Given the description of an element on the screen output the (x, y) to click on. 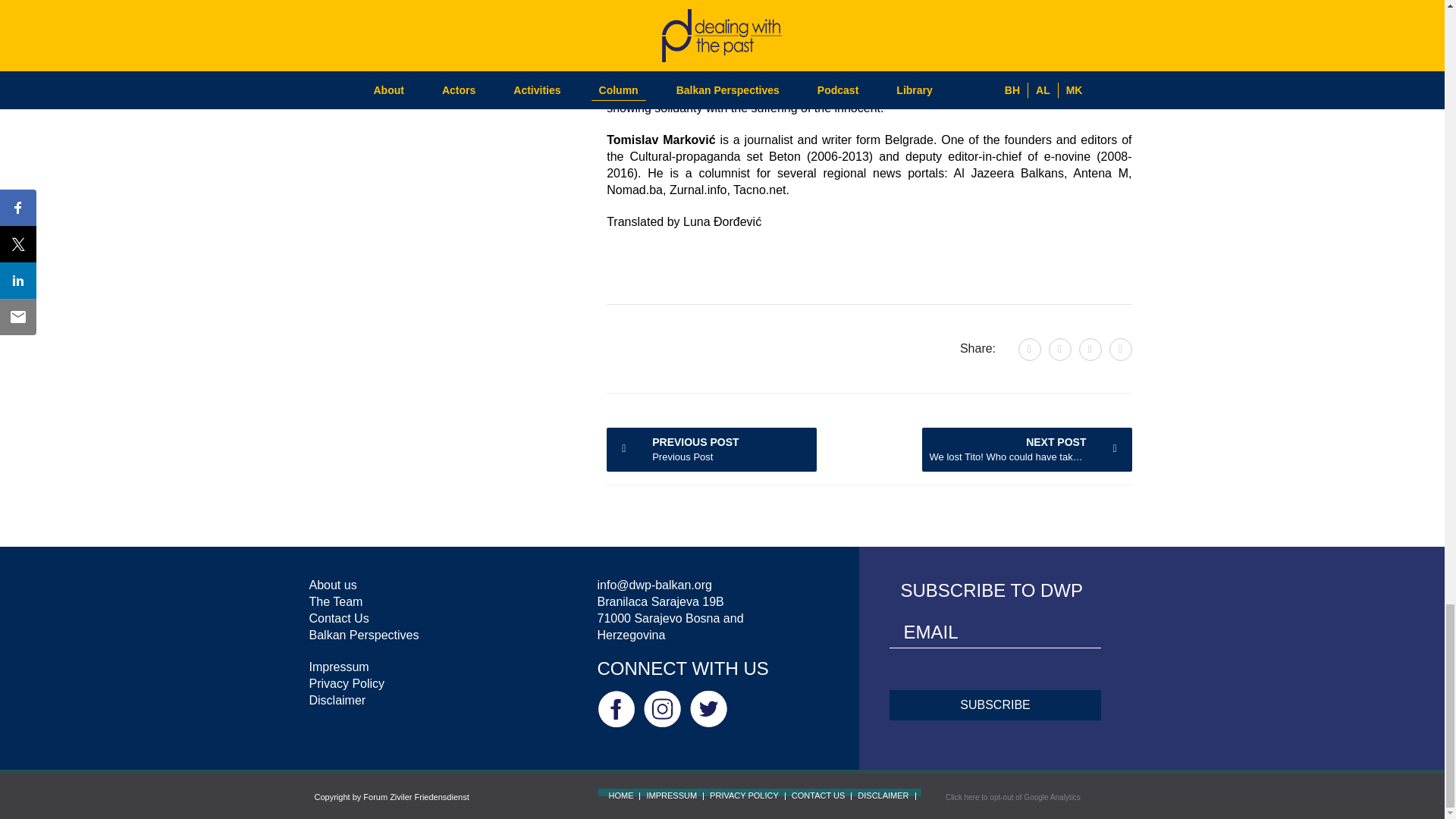
The Team (711, 449)
About us (1026, 449)
SUBSCRIBE (335, 601)
